Given the description of an element on the screen output the (x, y) to click on. 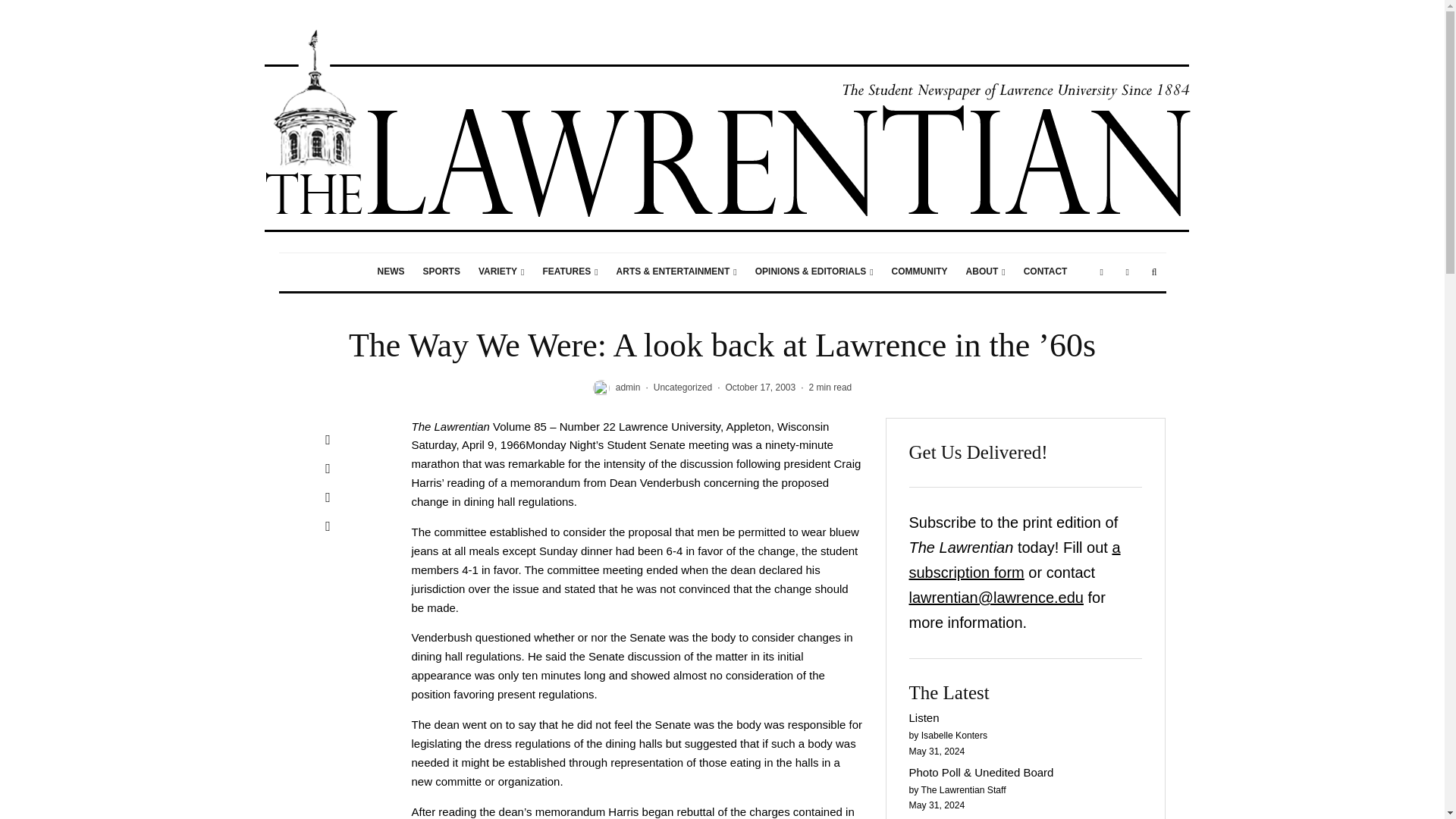
SPORTS (440, 272)
VARIETY (501, 272)
NEWS (390, 272)
Posts by admin (627, 387)
FEATURES (569, 272)
